Given the description of an element on the screen output the (x, y) to click on. 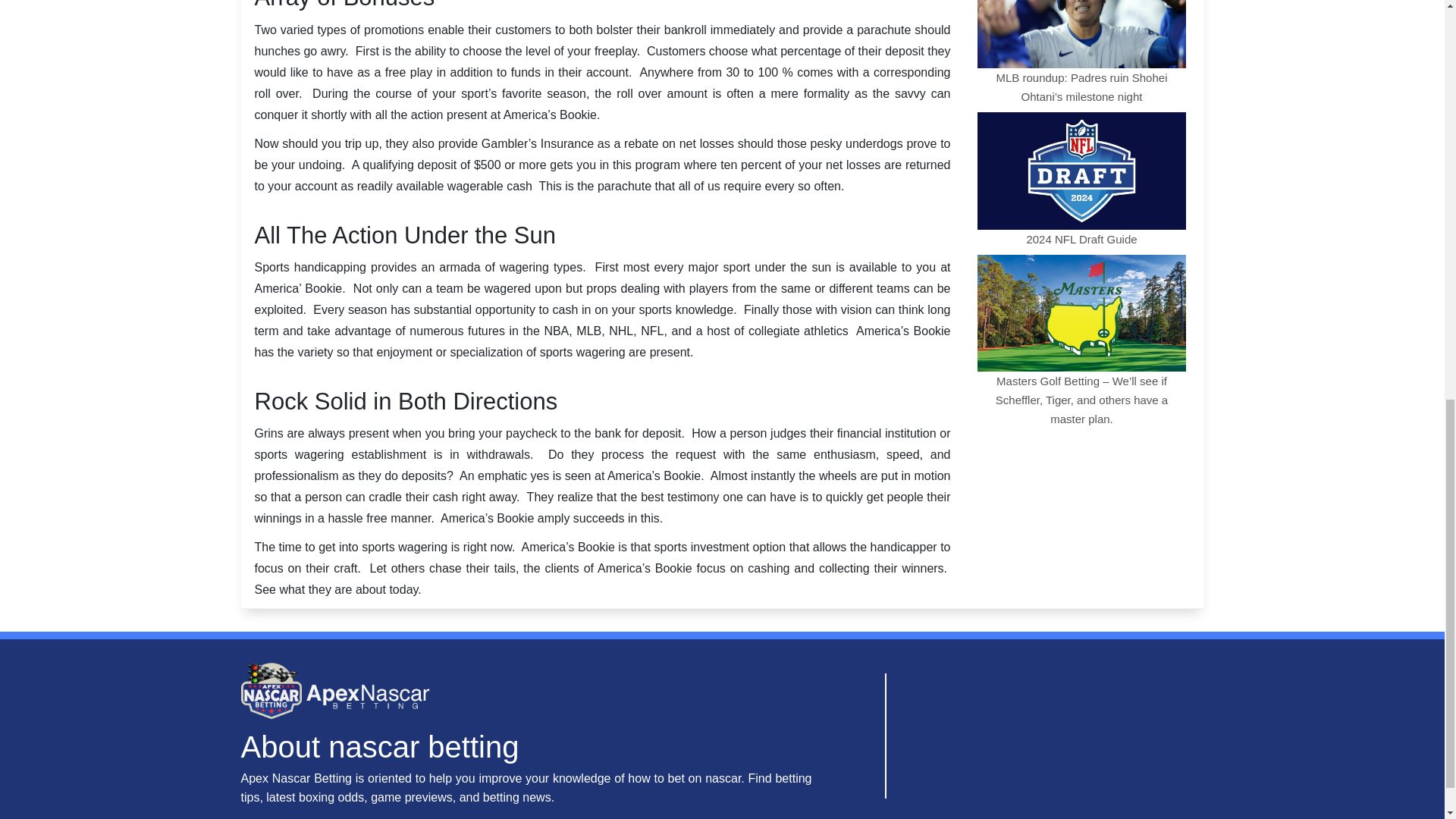
2024 NFL Draft Guide (1081, 178)
